Given the description of an element on the screen output the (x, y) to click on. 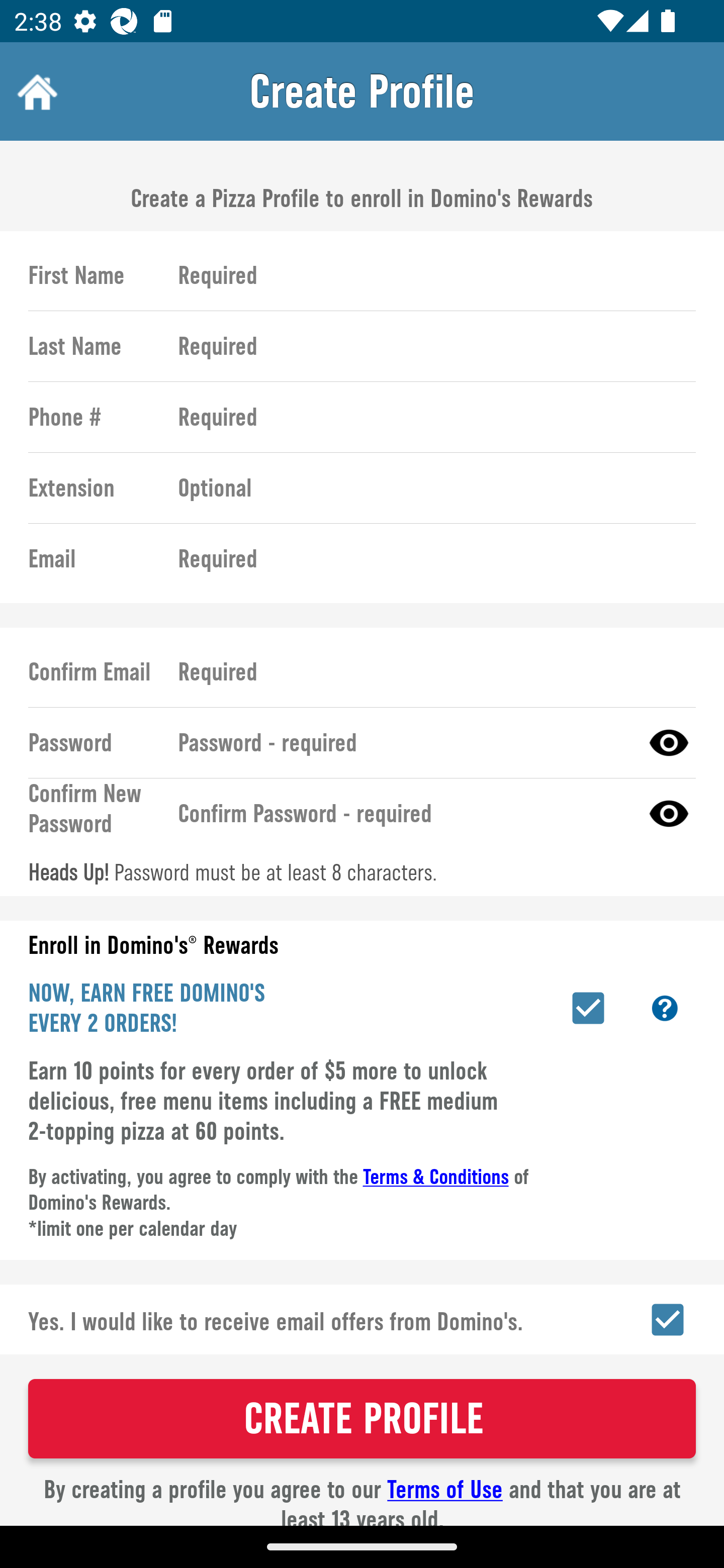
Home (35, 91)
Required First Name is required. 
 (427, 274)
Required Last Name is required. 
 (427, 345)
Required Phone Number is required. 
 (427, 416)
Optional Phone extension, optional (427, 488)
Required Email is required. 
 (427, 558)
Required Confirm Email Address (427, 671)
Password - required (401, 742)
Show Password (668, 742)
Confirm Password - required (401, 812)
Show Password (668, 812)
Enroll in Piece of the Pie Rewards (588, 1008)
CREATE PROFILE (361, 1418)
